Given the description of an element on the screen output the (x, y) to click on. 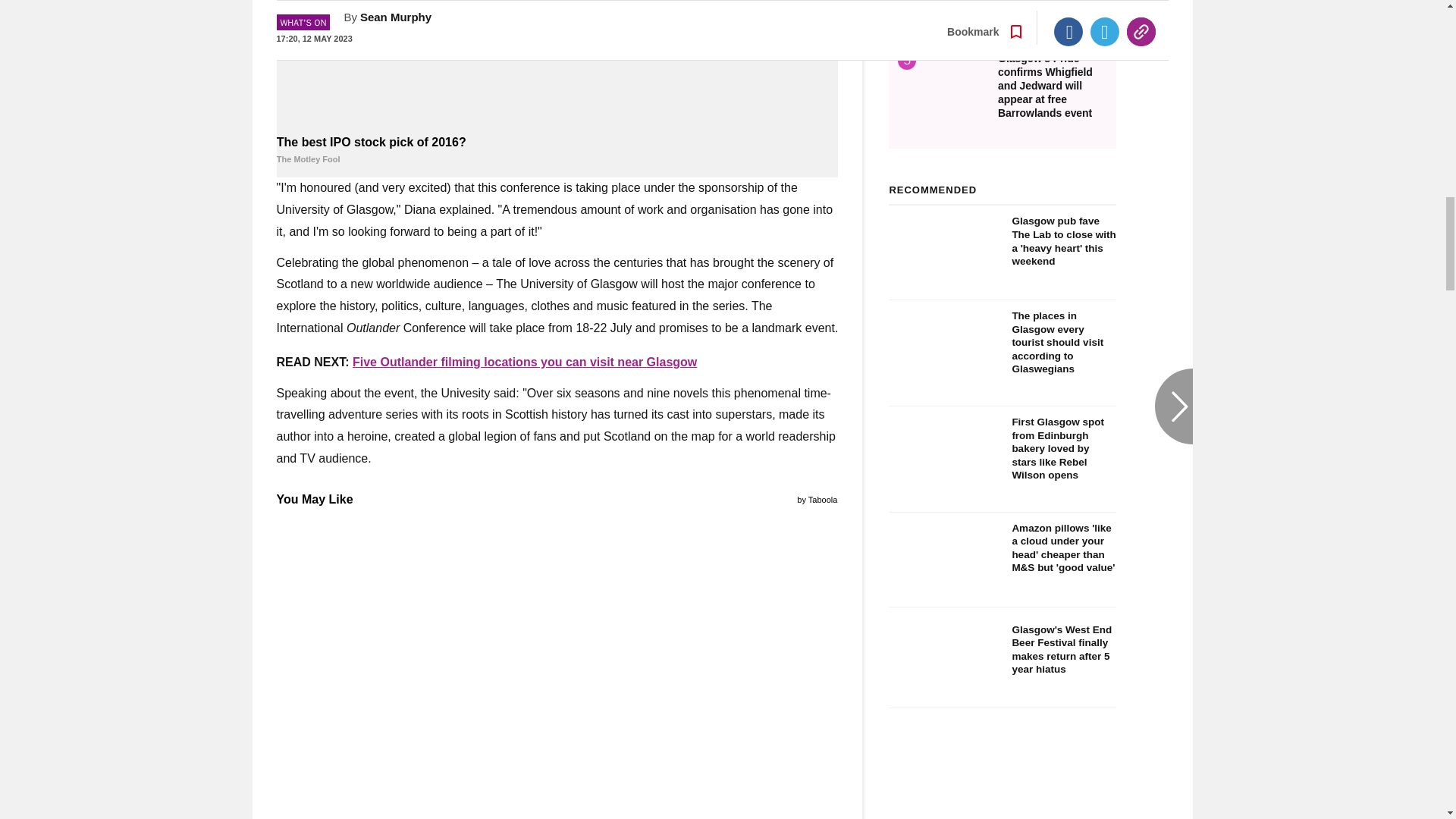
The best IPO stock pick of 2016? (557, 65)
The best IPO stock pick of 2016? (557, 150)
